Given the description of an element on the screen output the (x, y) to click on. 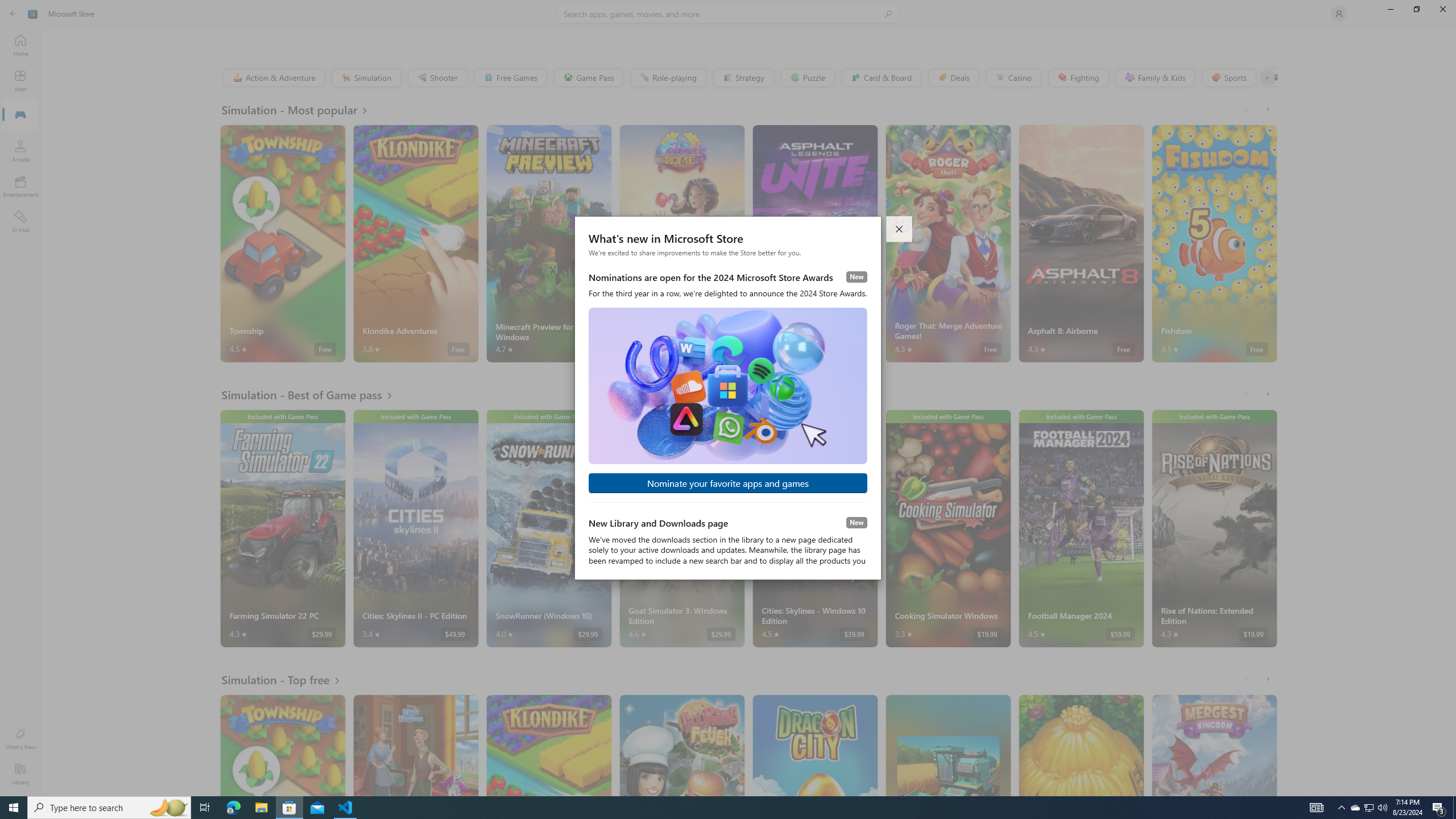
See all  Simulation - Most popular (301, 109)
AutomationID: RightScrollButton (1269, 678)
Nominate your favorite apps and games (727, 483)
Action & Adventure (273, 77)
Card & Board (880, 77)
